Given the description of an element on the screen output the (x, y) to click on. 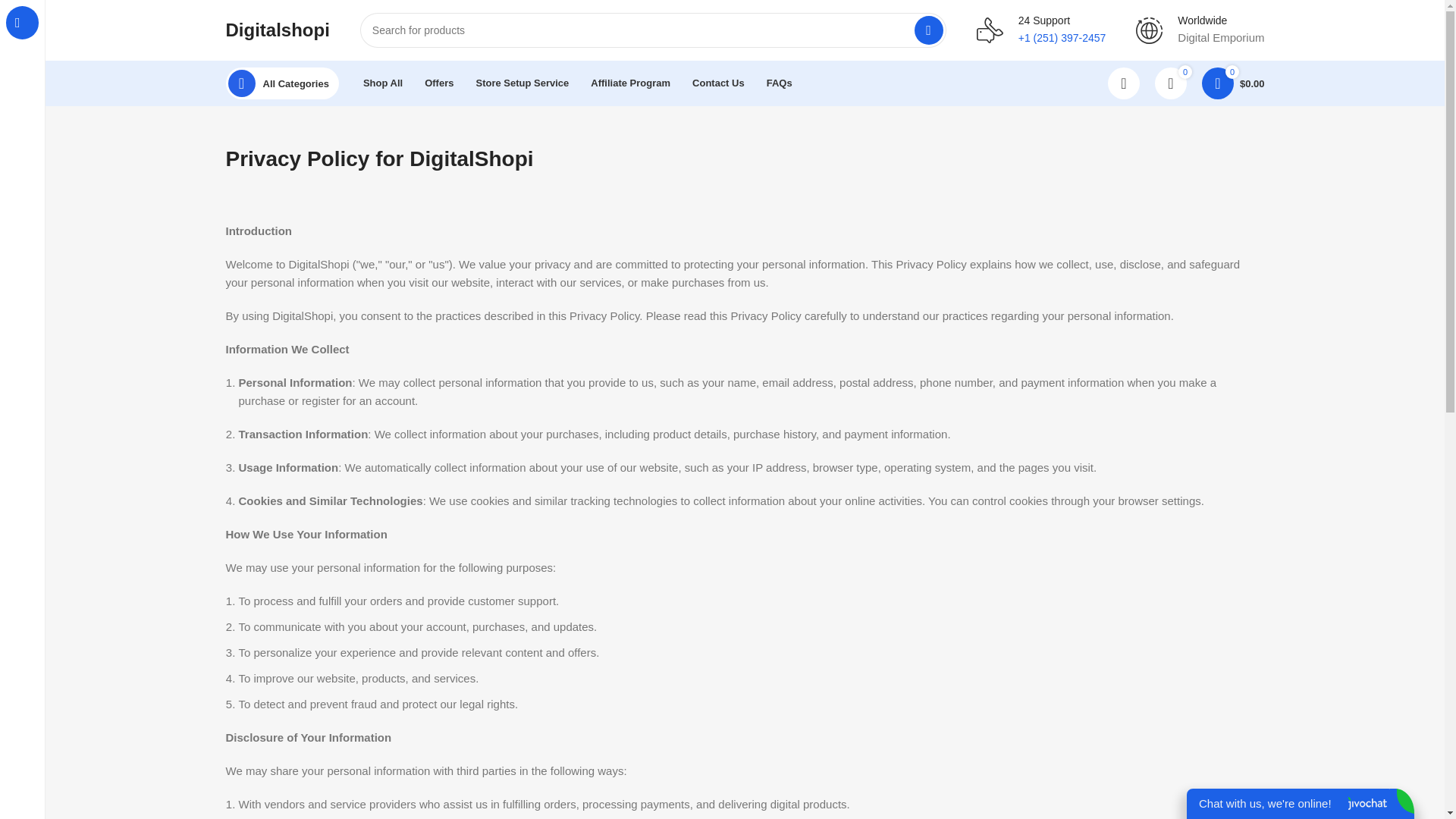
0 (1170, 82)
Digitalshopi (277, 29)
Contact Us (718, 82)
All Categories (282, 82)
Affiliate Program (629, 82)
Offers (438, 82)
Store Setup Service (521, 82)
My account (1123, 82)
My Wishlist (1170, 82)
Shopping cart (1232, 82)
Search for products (652, 30)
FAQs (779, 82)
Shop All (382, 82)
Search (928, 30)
